Given the description of an element on the screen output the (x, y) to click on. 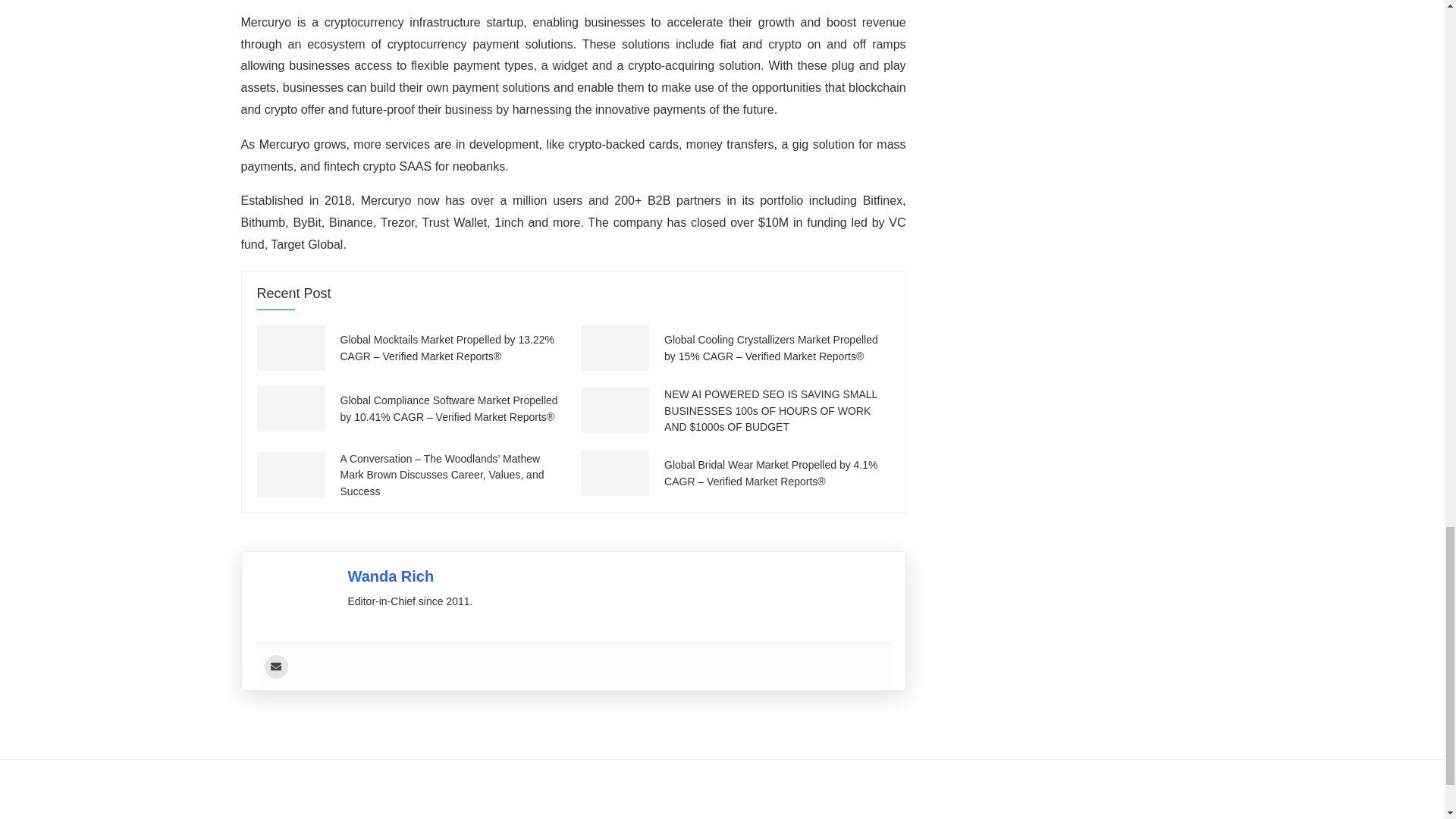
User email (274, 666)
Wanda Rich (390, 576)
